Given the description of an element on the screen output the (x, y) to click on. 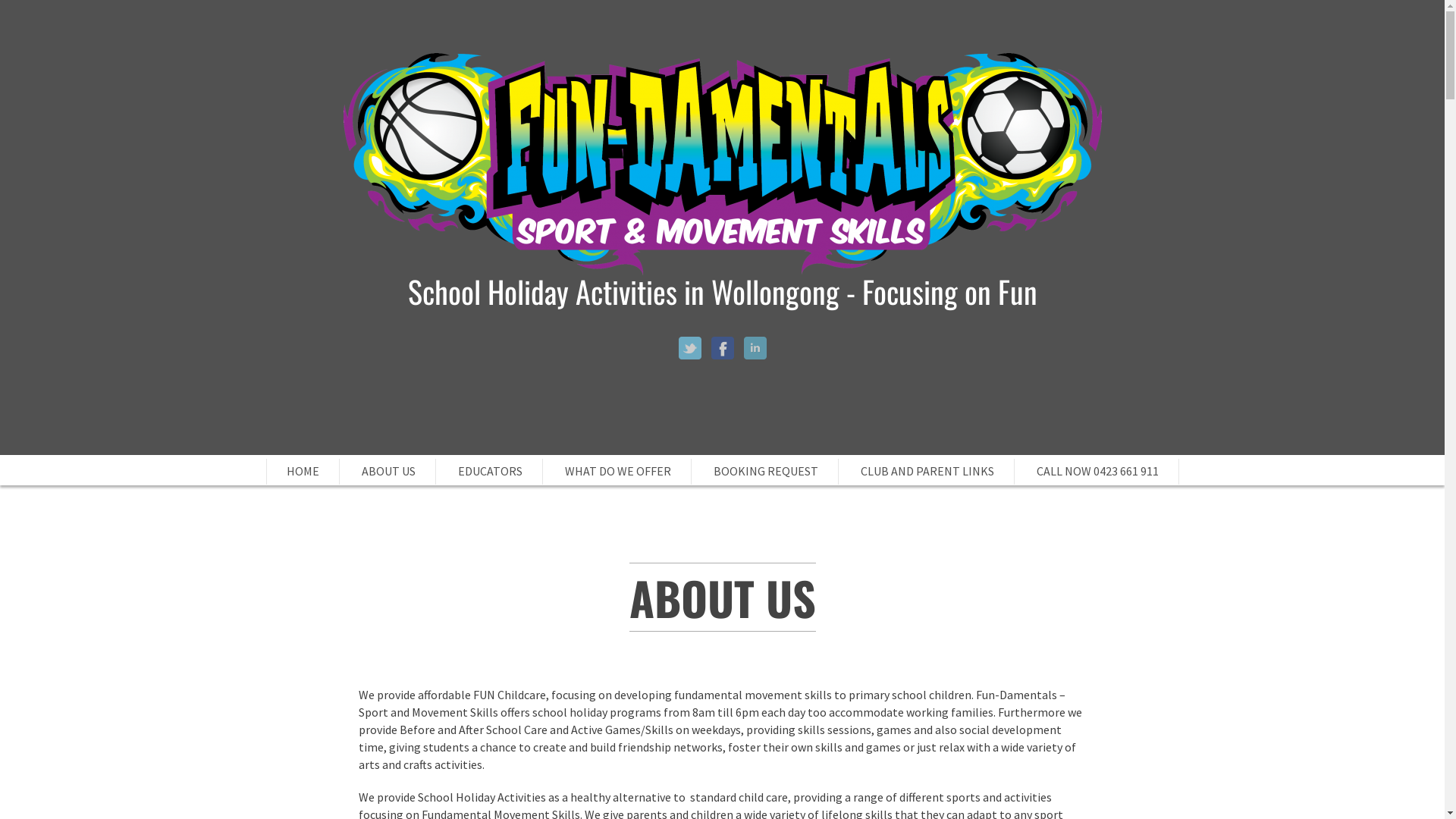
EDUCATORS Element type: text (490, 470)
CLUB AND PARENT LINKS Element type: text (926, 470)
ABOUT US Element type: text (387, 470)
BOOKING REQUEST Element type: text (764, 470)
CALL NOW 0423 661 911 Element type: text (1096, 470)
HOME Element type: text (302, 470)
WHAT DO WE OFFER Element type: text (617, 470)
